Given the description of an element on the screen output the (x, y) to click on. 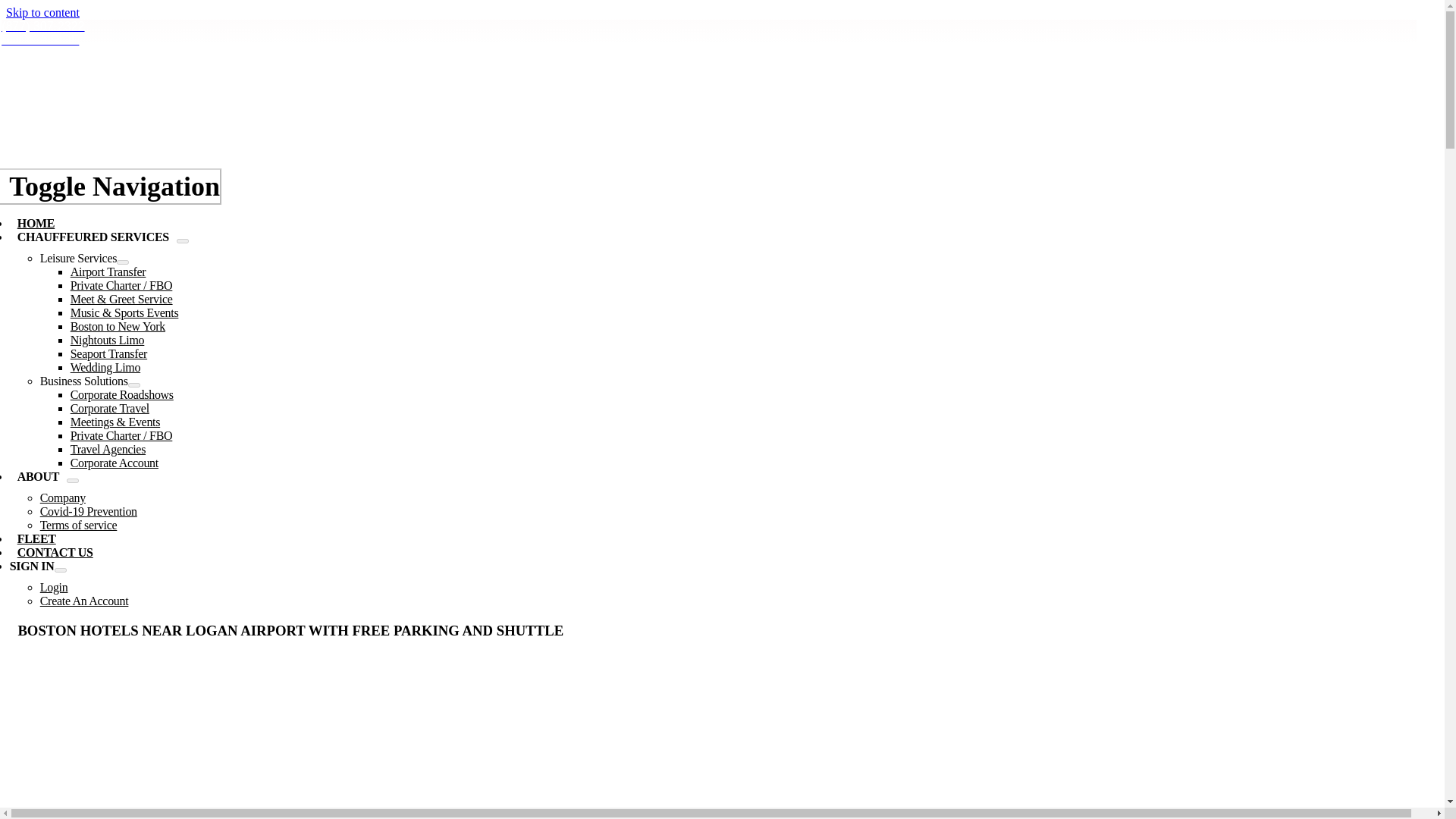
Toggle Navigation (110, 186)
HOME (36, 223)
Seaport Transfer (108, 353)
BOOK A RIDE (39, 39)
Leisure Services (78, 257)
Wedding Limo (104, 366)
Covid-19 Prevention (88, 511)
Nightouts Limo (106, 339)
Boston to New York (117, 326)
Corporate Account (113, 462)
